Given the description of an element on the screen output the (x, y) to click on. 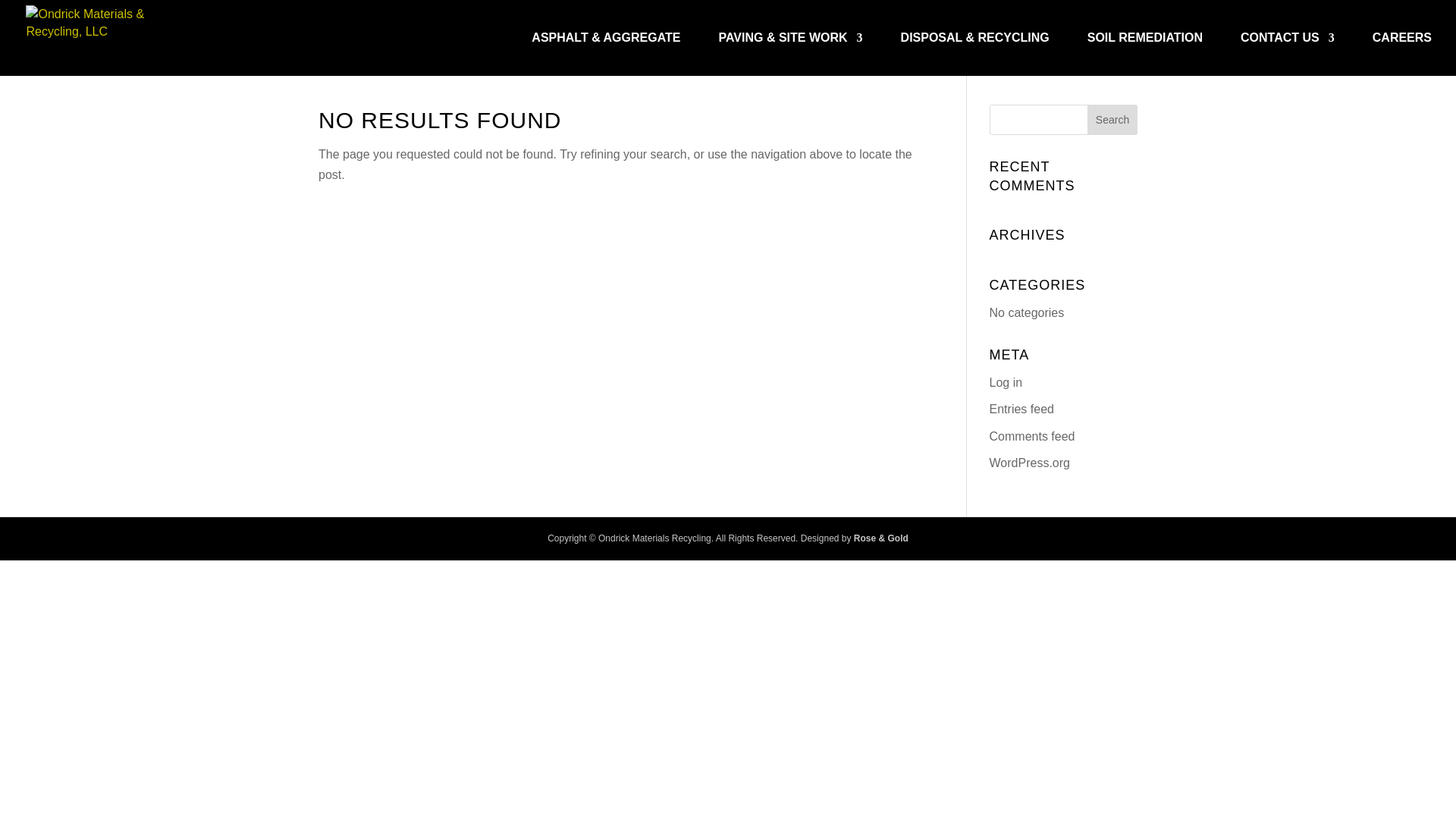
CONTACT US (1287, 54)
Comments feed (1032, 435)
WordPress.org (1030, 462)
Search (1112, 119)
SOIL REMEDIATION (1144, 54)
Search (1112, 119)
Entries feed (1022, 408)
CAREERS (1402, 54)
Log in (1006, 382)
